Given the description of an element on the screen output the (x, y) to click on. 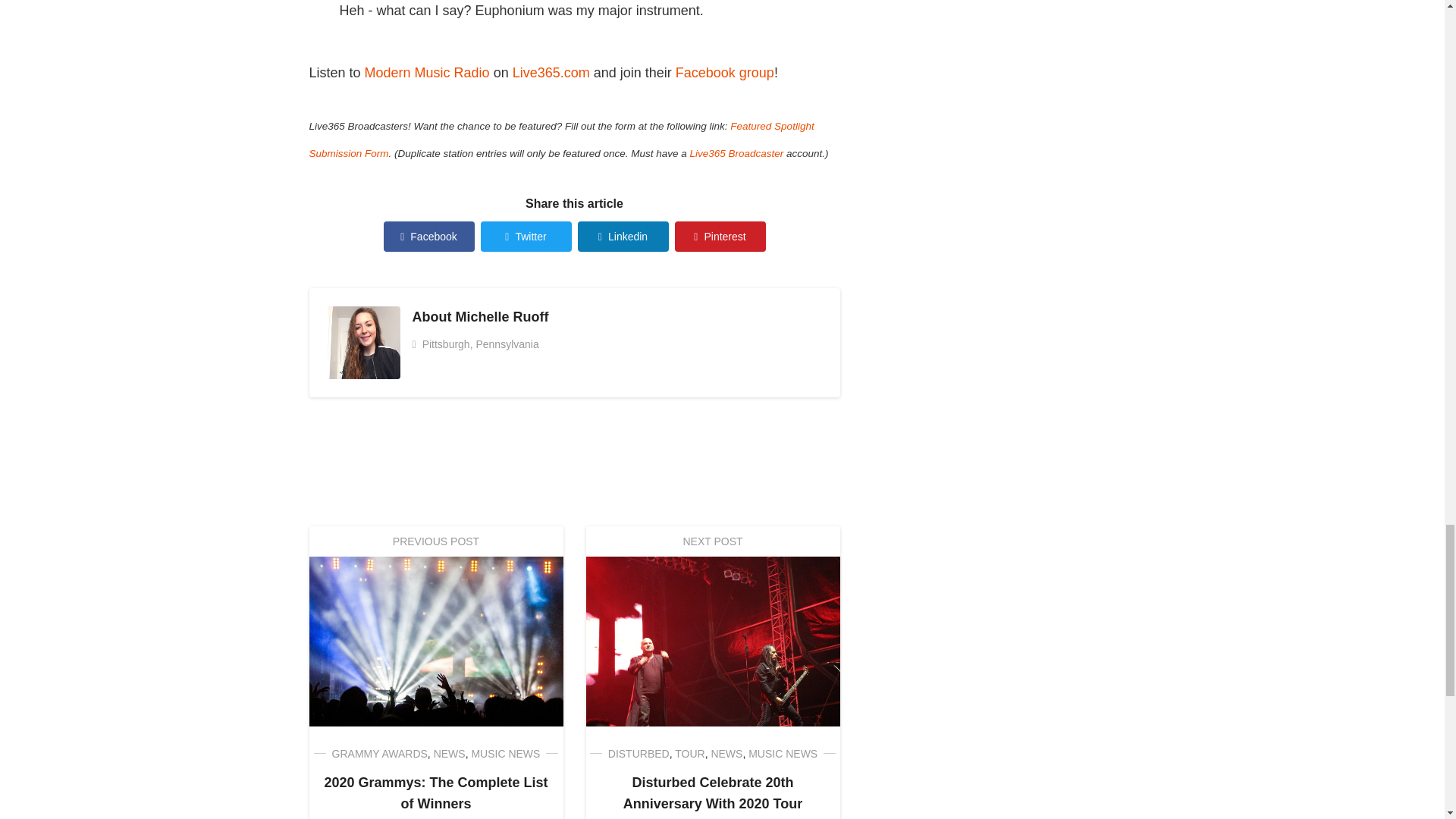
Pinterest (720, 236)
3rd party ad content (565, 461)
MUSIC NEWS (505, 753)
Modern Music Radio (427, 72)
Share on Twitter (526, 236)
Live365 Broadcaster (737, 153)
Live365.com (550, 72)
NEXT POST (712, 541)
Share on Pinterest (720, 236)
GRAMMY AWARDS (379, 753)
Featured Spotlight Submission Form (560, 139)
DISTURBED (638, 753)
Facebook group (724, 72)
Linkedin (623, 236)
Facebook (429, 236)
